Given the description of an element on the screen output the (x, y) to click on. 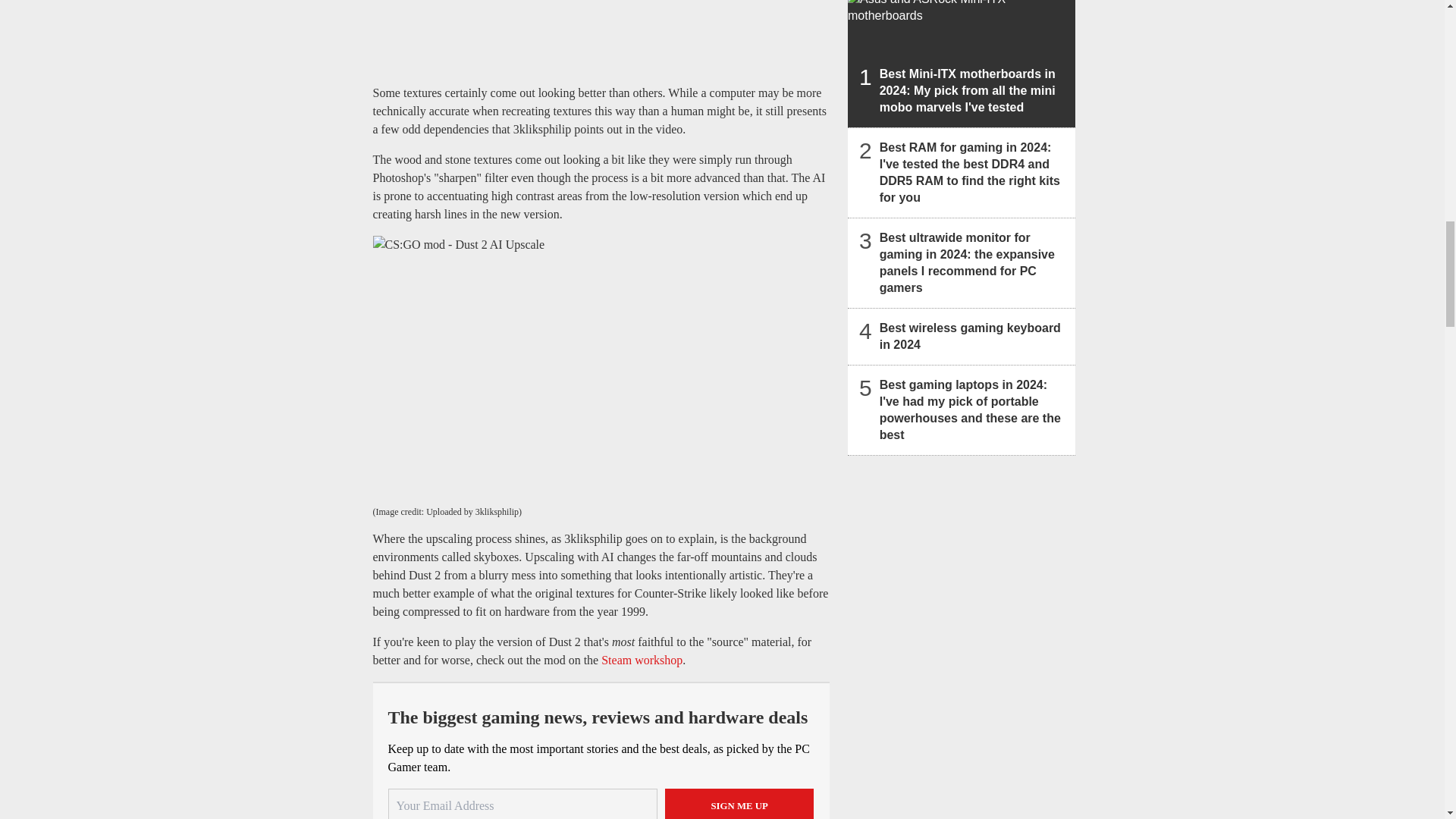
Sign me up (739, 803)
